Given the description of an element on the screen output the (x, y) to click on. 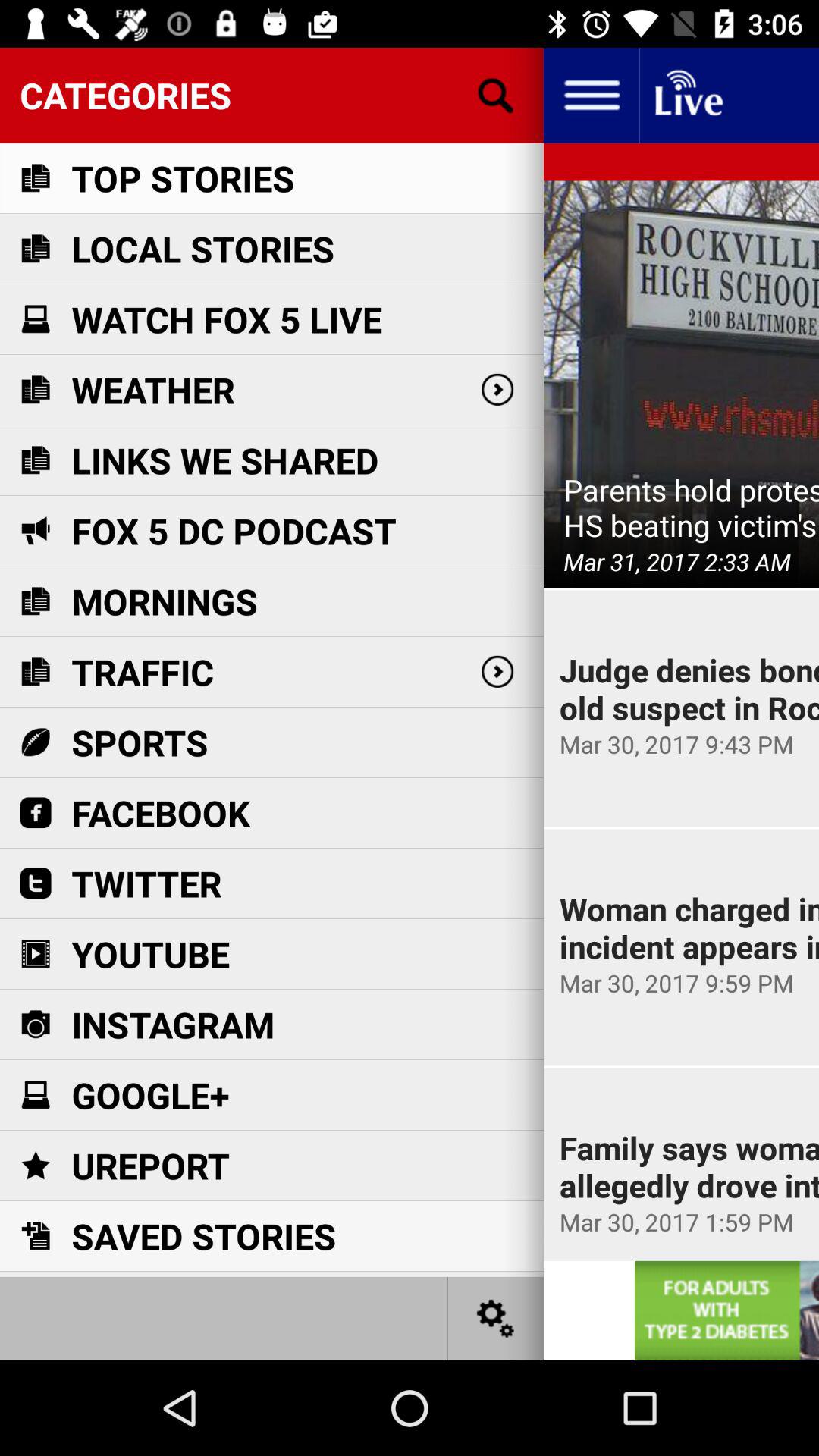
searching button (495, 95)
